Given the description of an element on the screen output the (x, y) to click on. 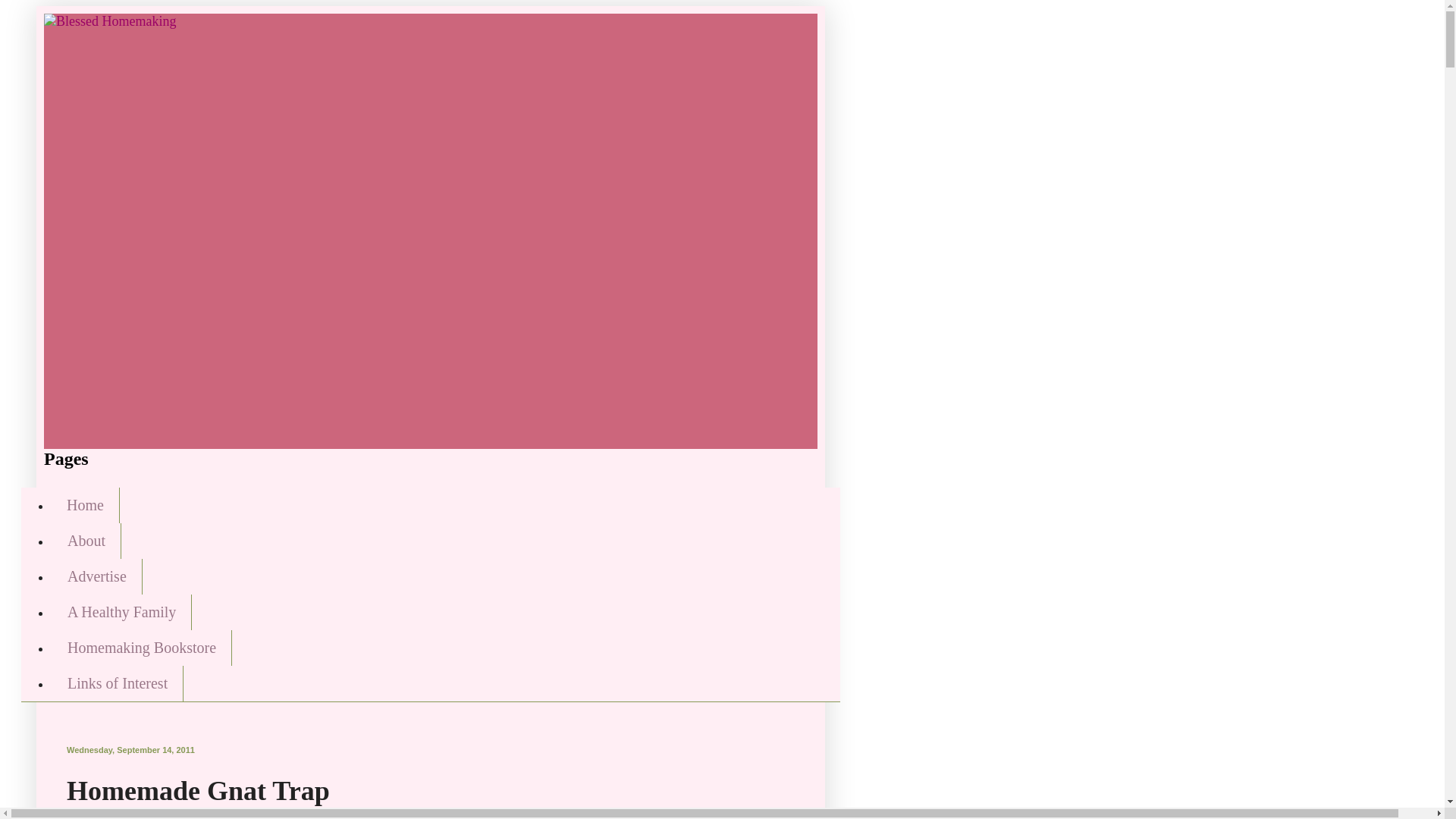
Home (84, 505)
A Healthy Family (121, 611)
Homemaking Bookstore (140, 647)
Links of Interest (116, 683)
Advertise (96, 576)
About (85, 540)
